Given the description of an element on the screen output the (x, y) to click on. 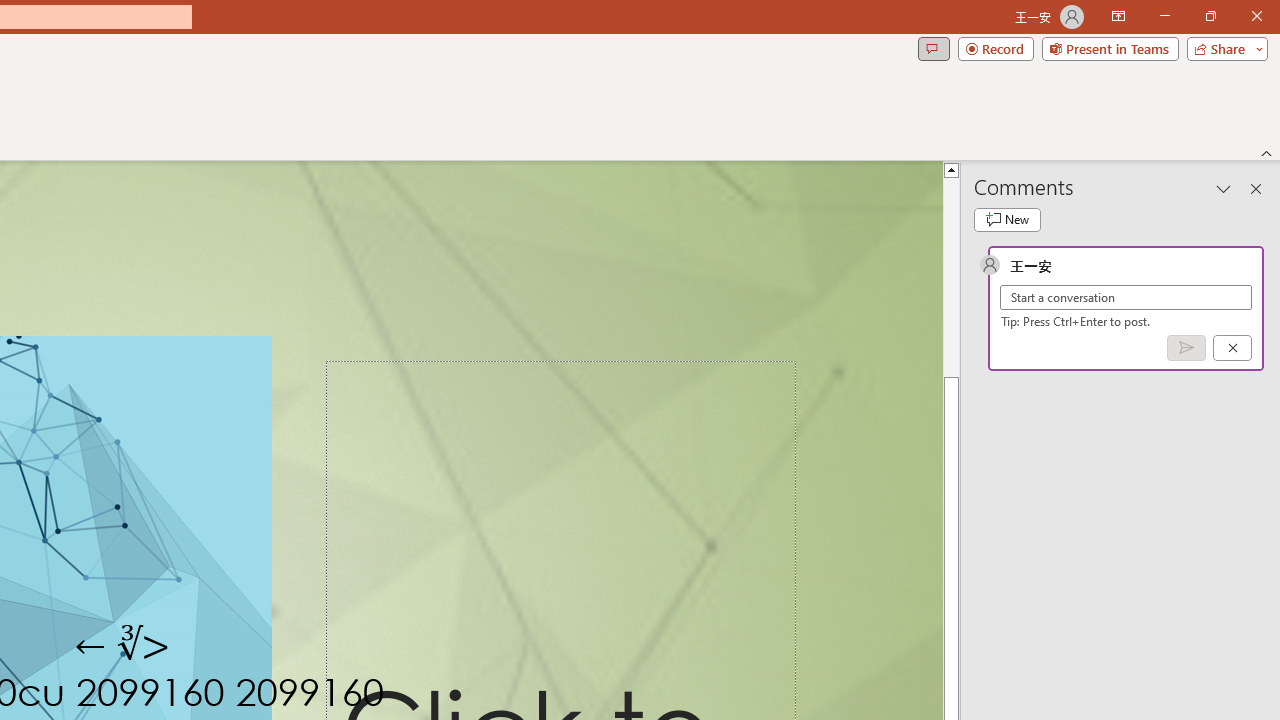
Cancel (1232, 347)
